Given the description of an element on the screen output the (x, y) to click on. 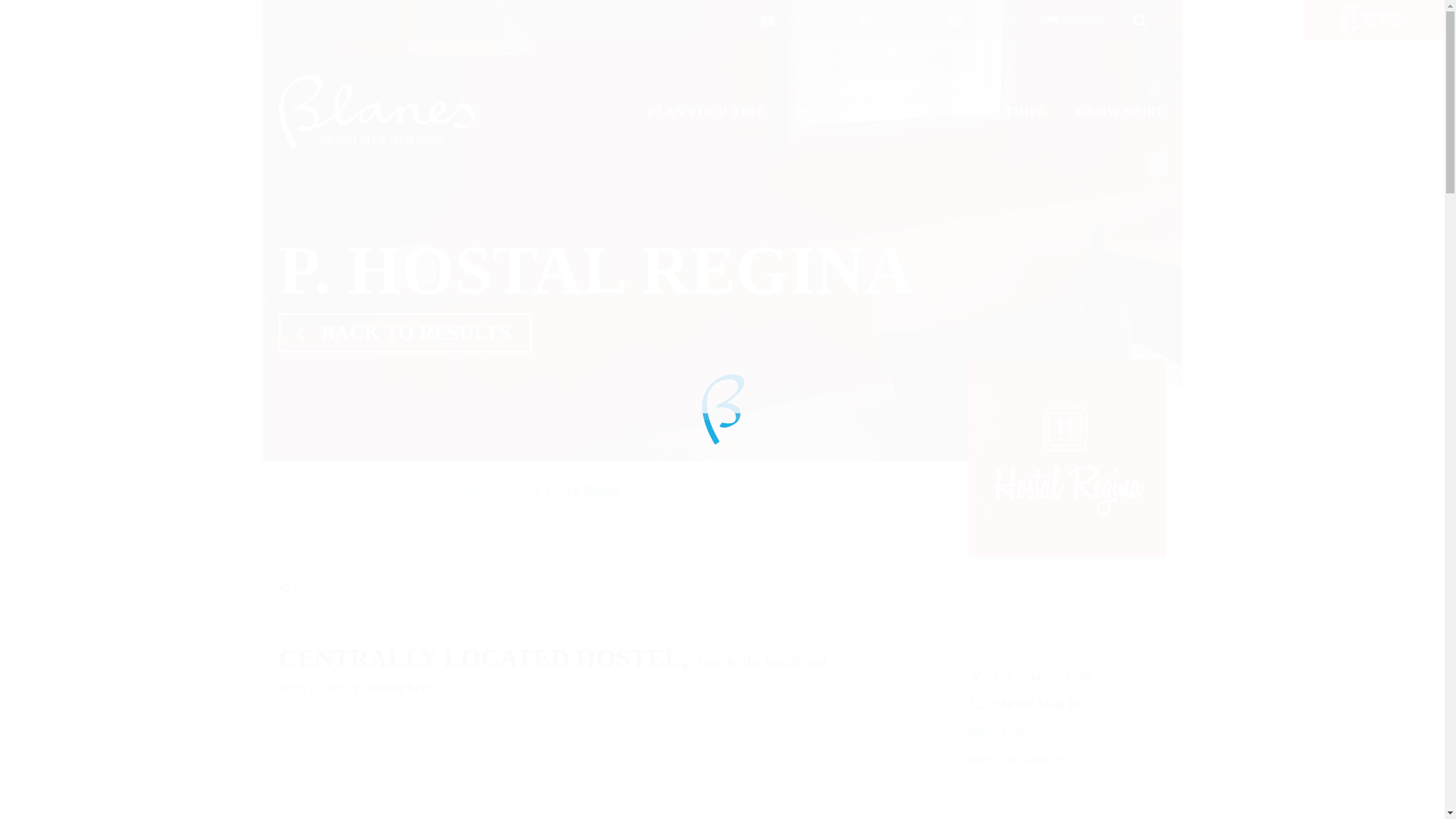
YouTube (135, 19)
English (1074, 19)
Instagram (96, 19)
DISCOVER BLANES (859, 112)
Twitter (58, 19)
GALLERY (795, 19)
ENGLISH (1074, 19)
Facebook (19, 19)
PLAN YOUR TRIP (705, 112)
CONTACT (984, 19)
EVENTS (890, 19)
SHORT TRIPS (1000, 112)
KNOW MORE (1119, 112)
